Given the description of an element on the screen output the (x, y) to click on. 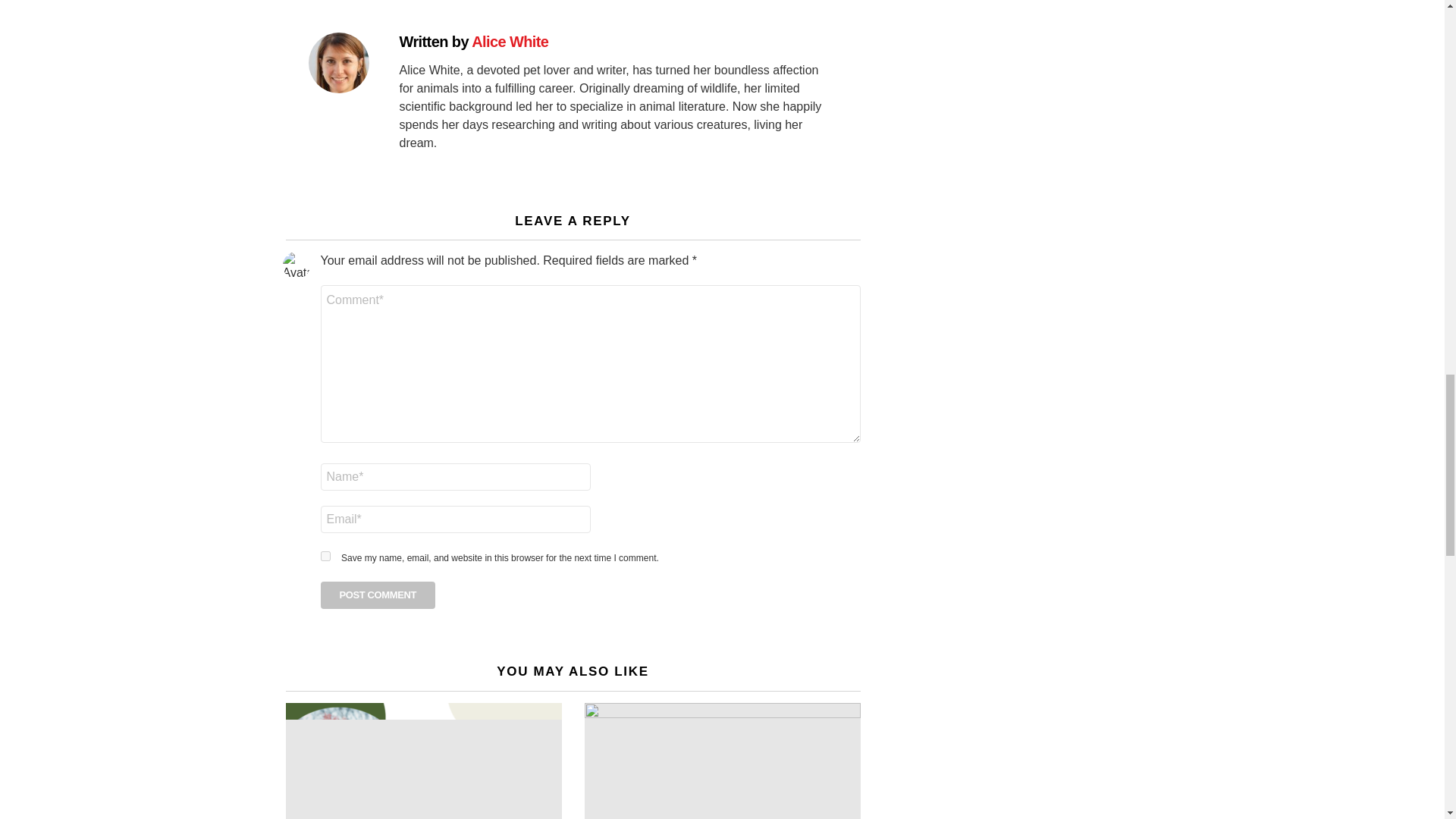
yes (325, 556)
Alice White (509, 41)
Post Comment (377, 595)
